Given the description of an element on the screen output the (x, y) to click on. 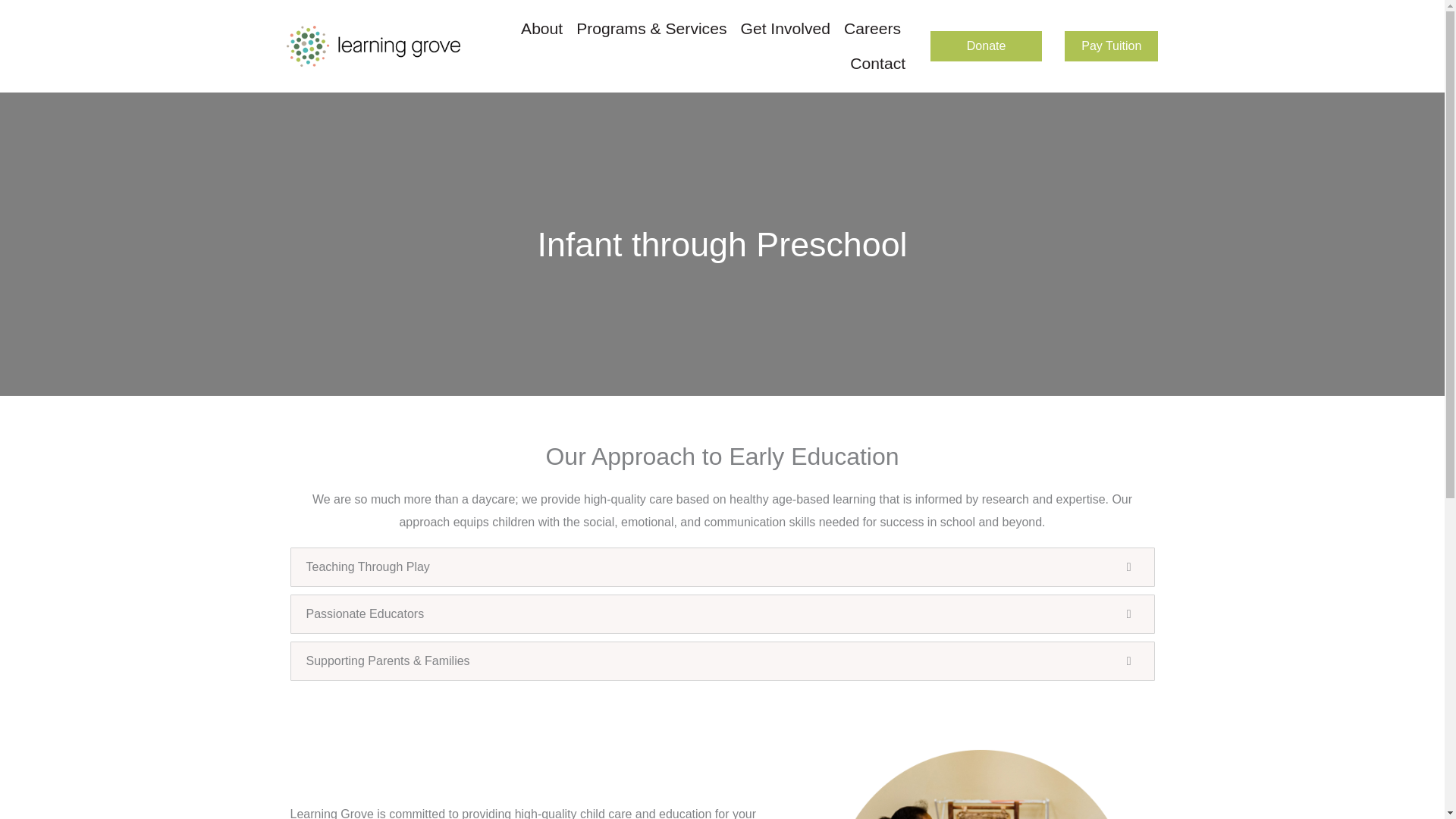
Pay Tuition (1110, 46)
Donate (986, 46)
Careers (871, 28)
Get Involved (785, 28)
Contact (877, 63)
About (541, 28)
